Given the description of an element on the screen output the (x, y) to click on. 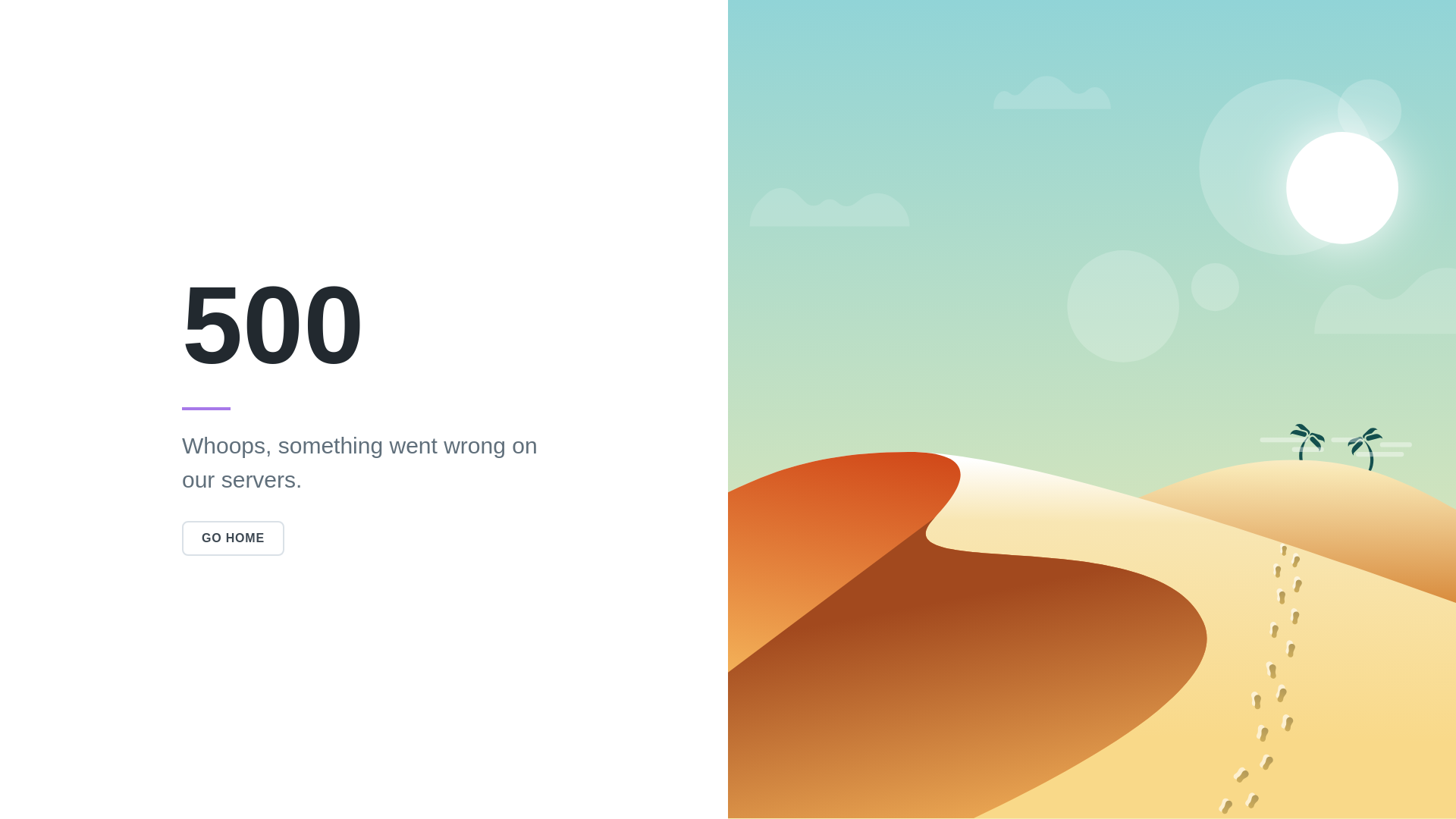
GO HOME (232, 538)
GO HOME (232, 537)
